Given the description of an element on the screen output the (x, y) to click on. 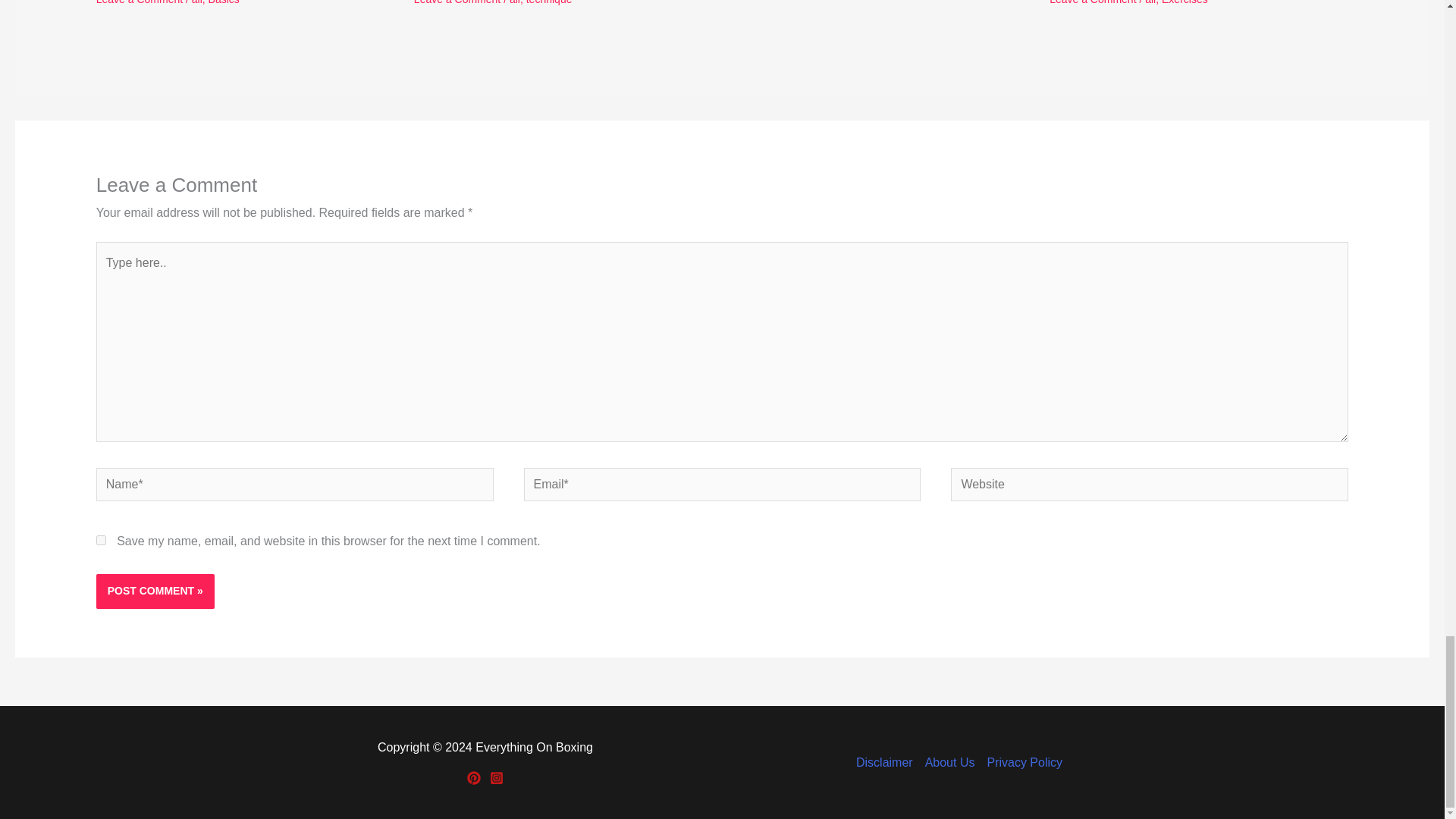
yes (101, 540)
